Given the description of an element on the screen output the (x, y) to click on. 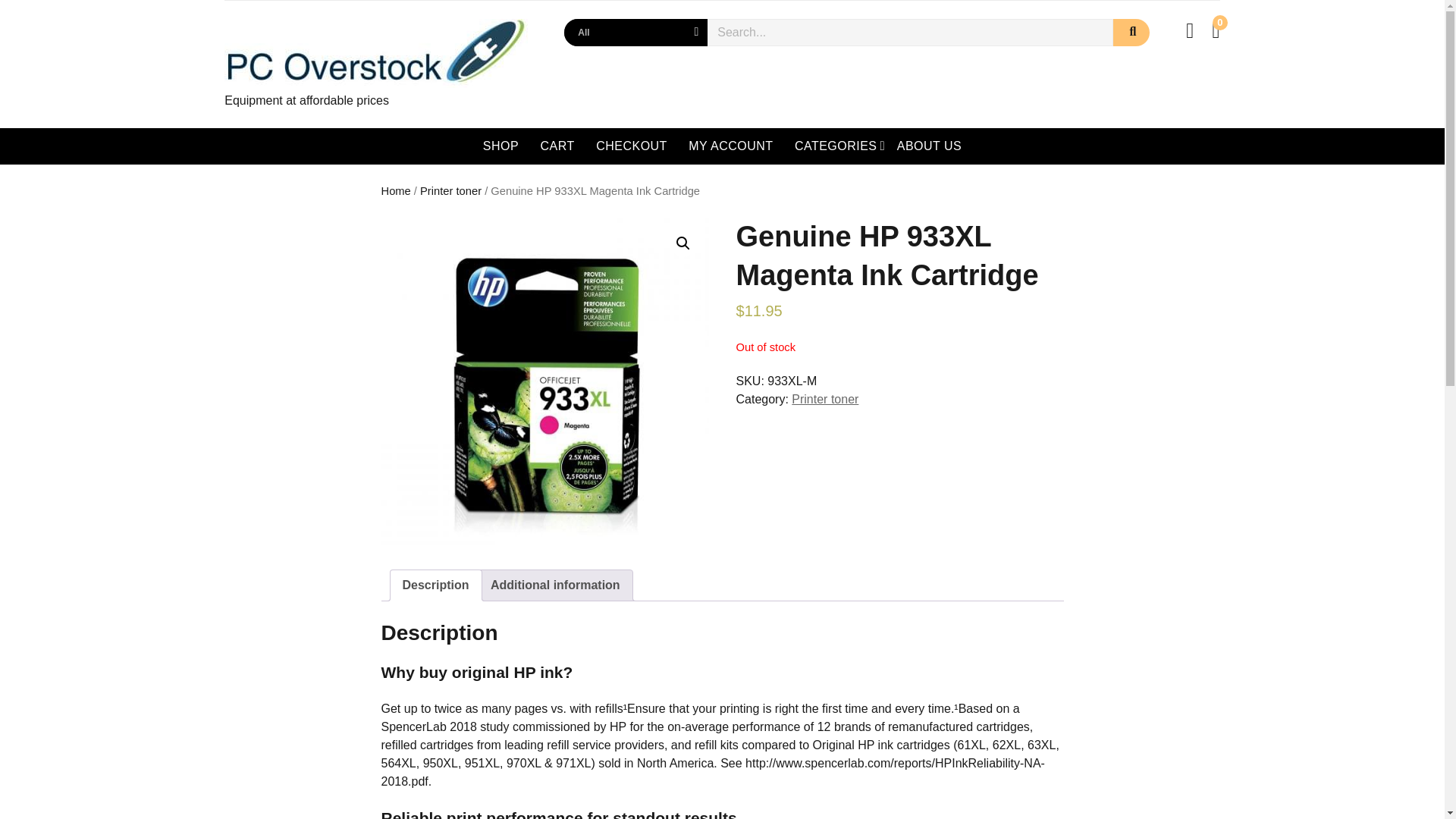
Home (395, 191)
CATEGORIES (842, 145)
ABOUT US (929, 145)
SHOP (500, 145)
Search (1131, 31)
Search for: (910, 31)
MY ACCOUNT (730, 145)
CHECKOUT (631, 145)
Search (1131, 31)
CART (557, 145)
Search (1131, 31)
